Given the description of an element on the screen output the (x, y) to click on. 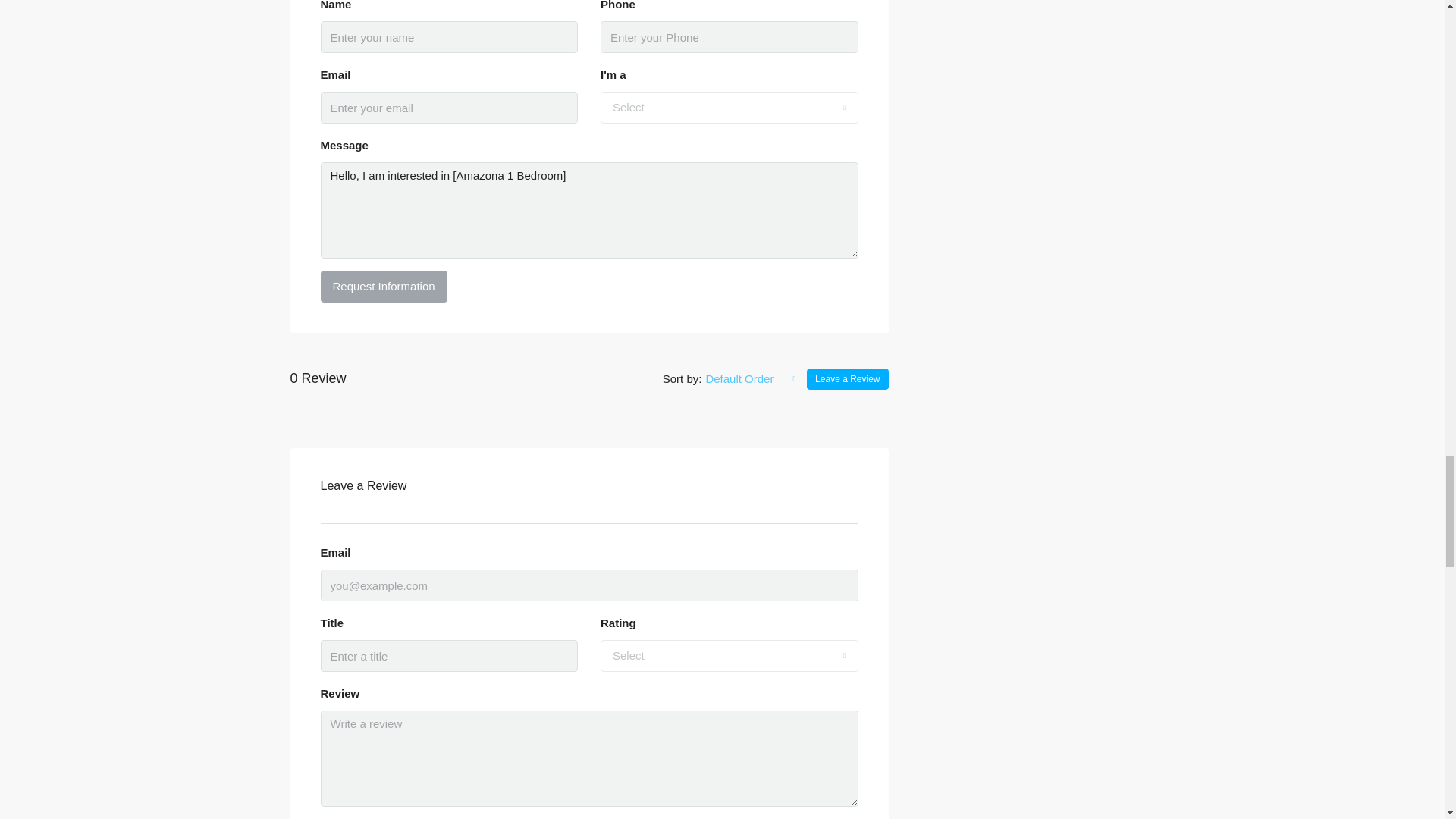
Select (729, 107)
Default Order (750, 378)
Select (729, 655)
